Given the description of an element on the screen output the (x, y) to click on. 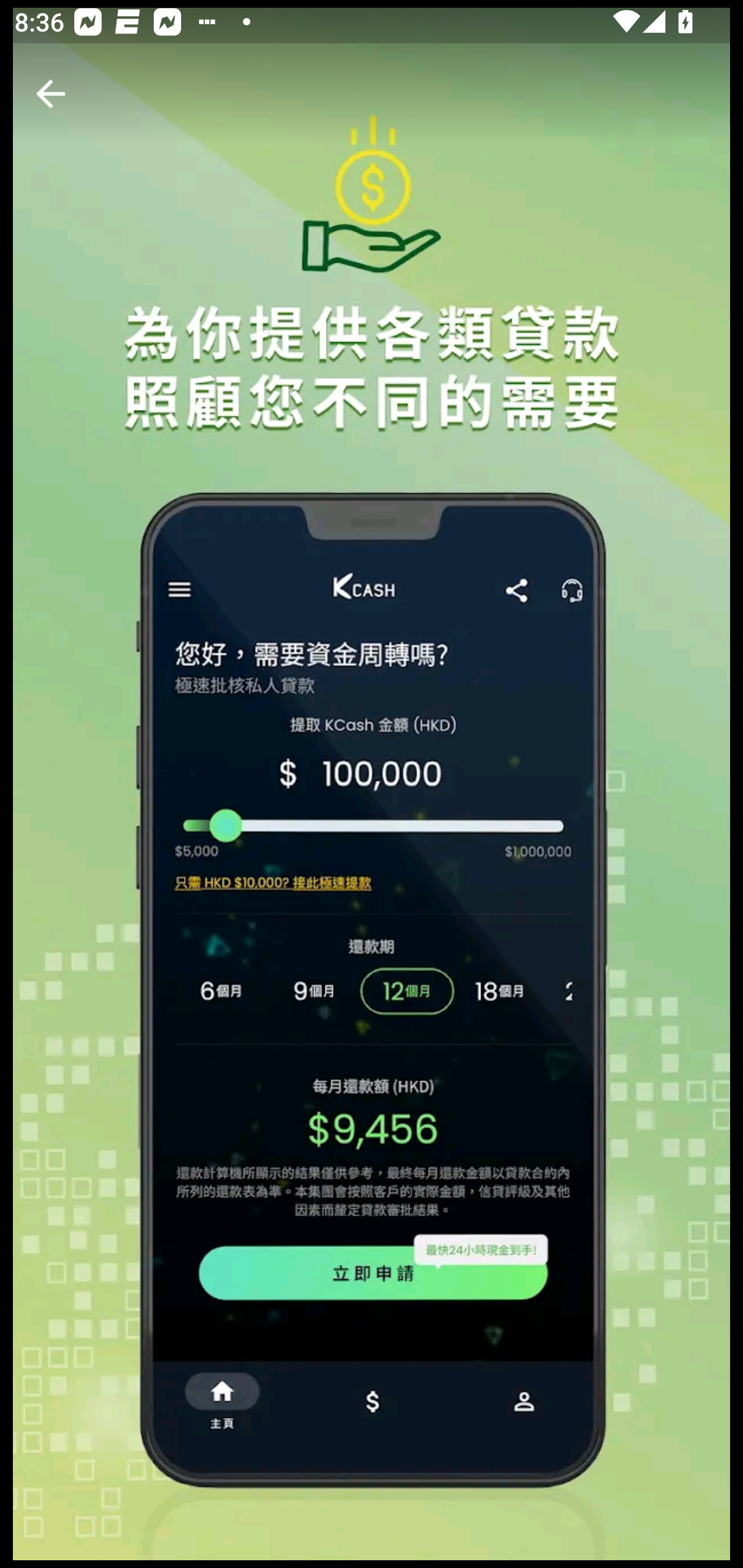
Back (50, 93)
